Given the description of an element on the screen output the (x, y) to click on. 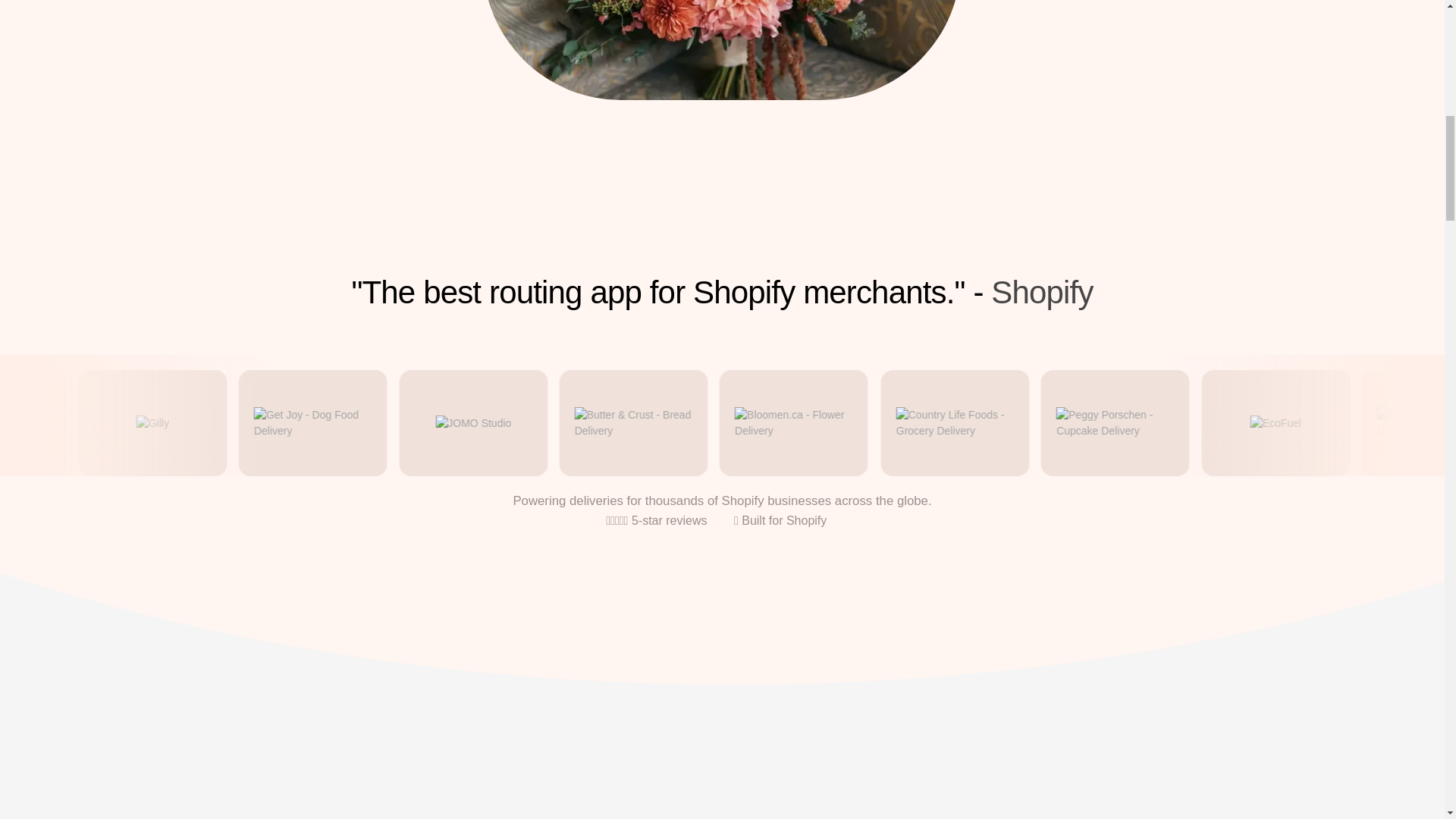
Shopify (1042, 292)
